Given the description of an element on the screen output the (x, y) to click on. 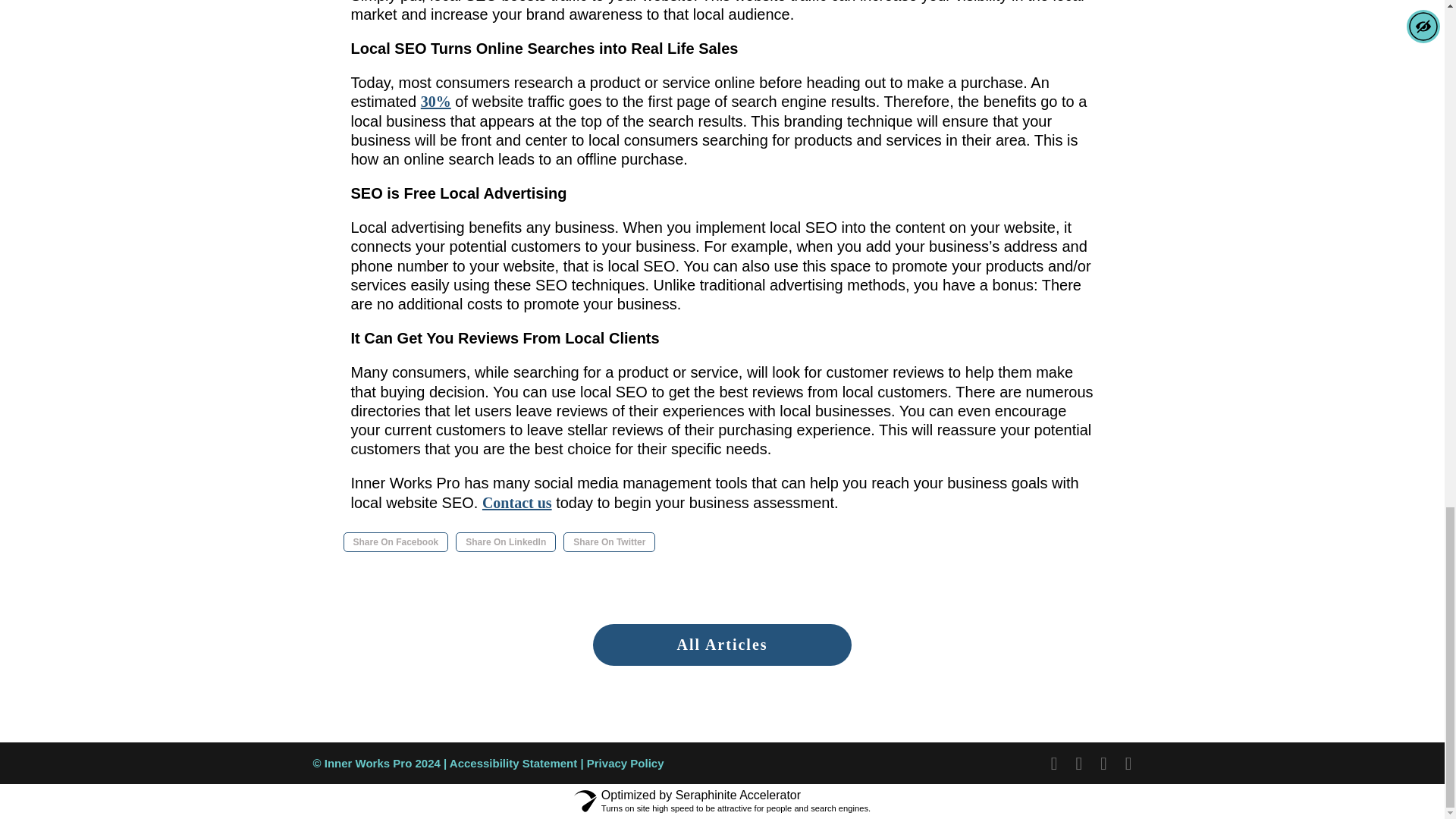
Share On LinkedIn (505, 542)
Accessibility Statement (512, 762)
Contact us (516, 502)
Accessibility Statement (512, 762)
Accessibility Statement (624, 762)
All Articles (721, 644)
Privacy Policy (624, 762)
Share On Facebook (395, 542)
Share On Twitter (609, 542)
